Given the description of an element on the screen output the (x, y) to click on. 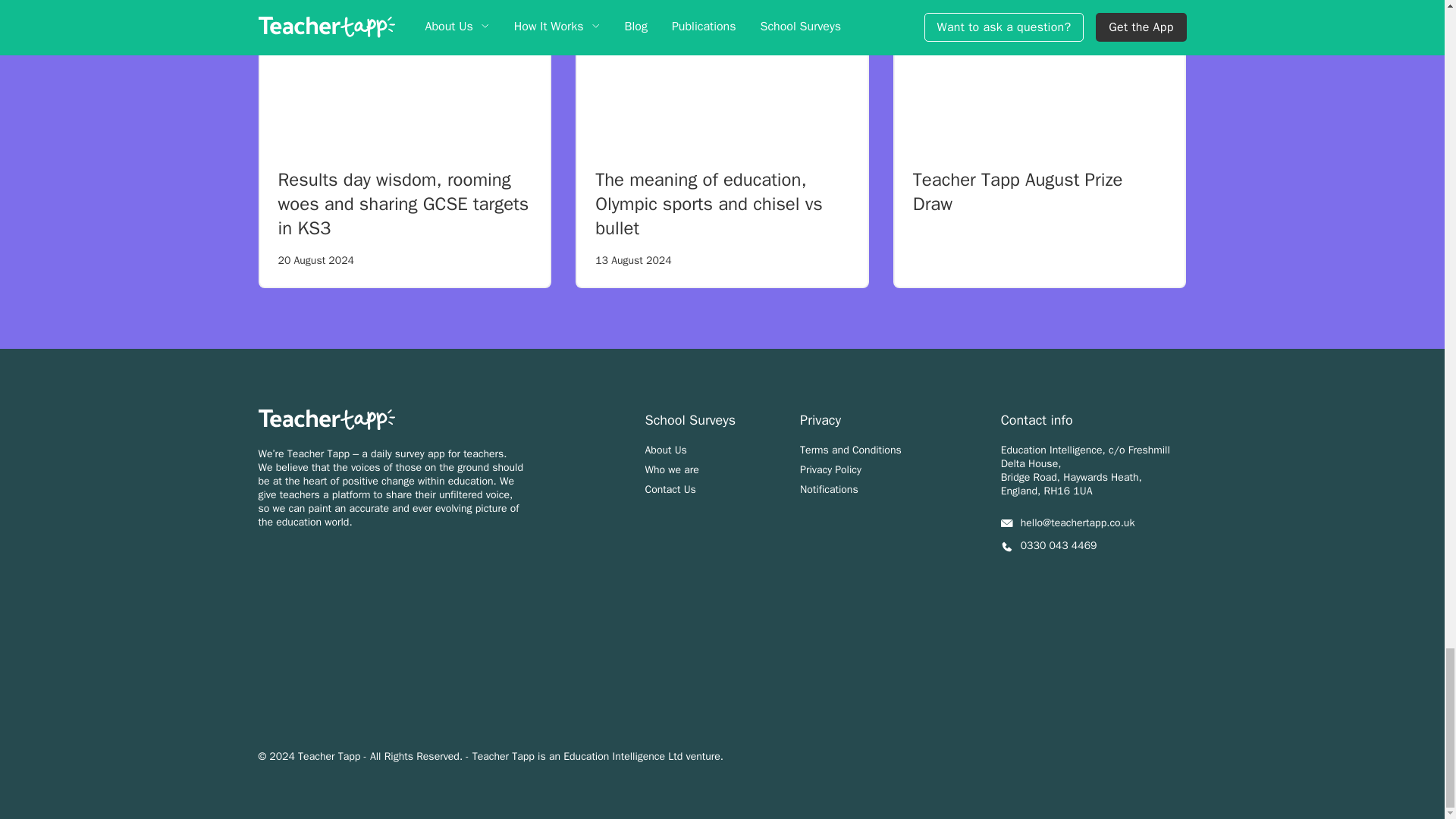
Instagram (1007, 579)
Facebook (1073, 579)
LinkedIn (1039, 580)
Twitter (1106, 578)
